Given the description of an element on the screen output the (x, y) to click on. 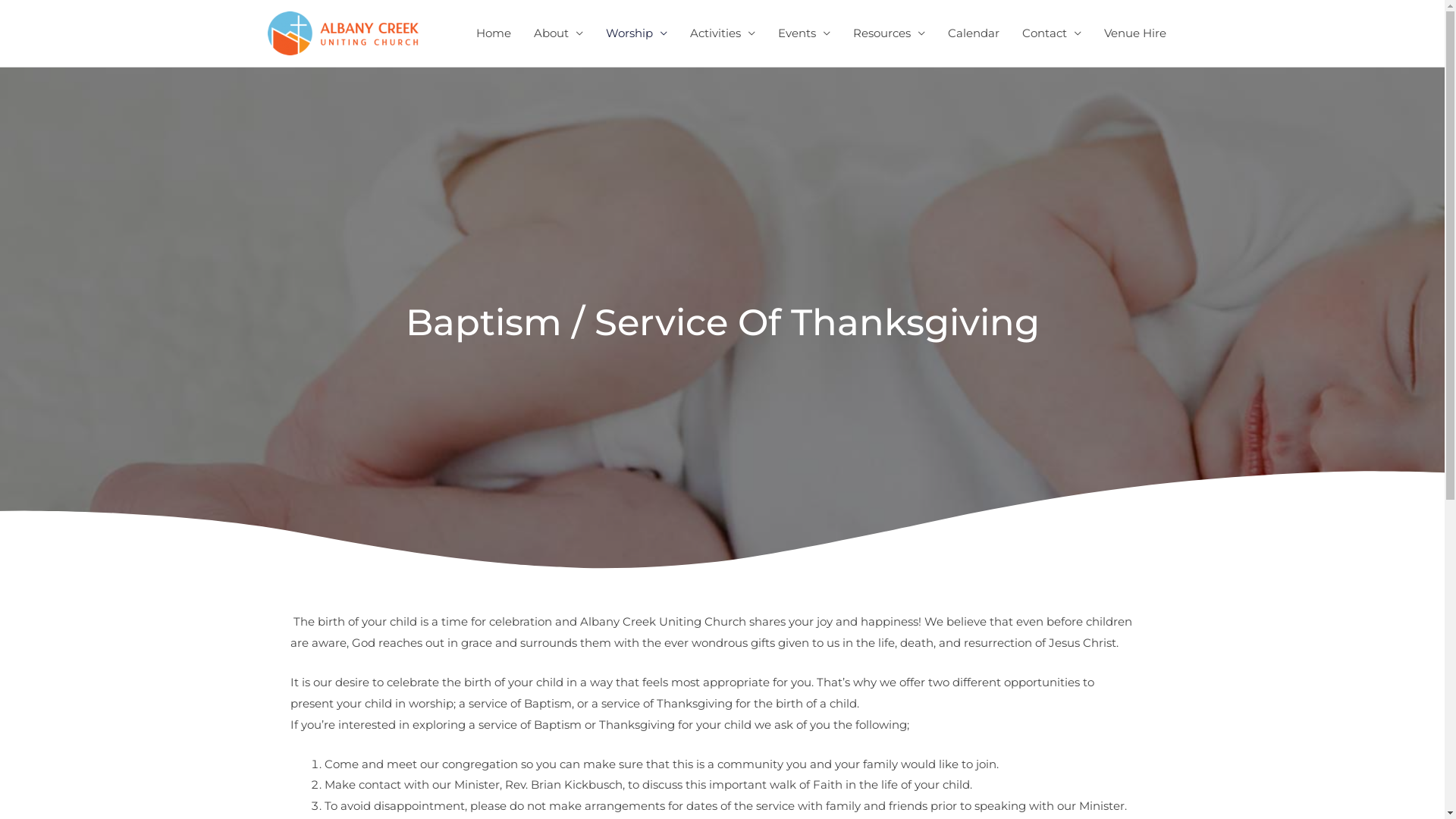
Calendar Element type: text (972, 33)
Venue Hire Element type: text (1134, 33)
Home Element type: text (492, 33)
Worship Element type: text (636, 33)
About Element type: text (557, 33)
Contact Element type: text (1051, 33)
Events Element type: text (802, 33)
Activities Element type: text (721, 33)
Resources Element type: text (888, 33)
